Given the description of an element on the screen output the (x, y) to click on. 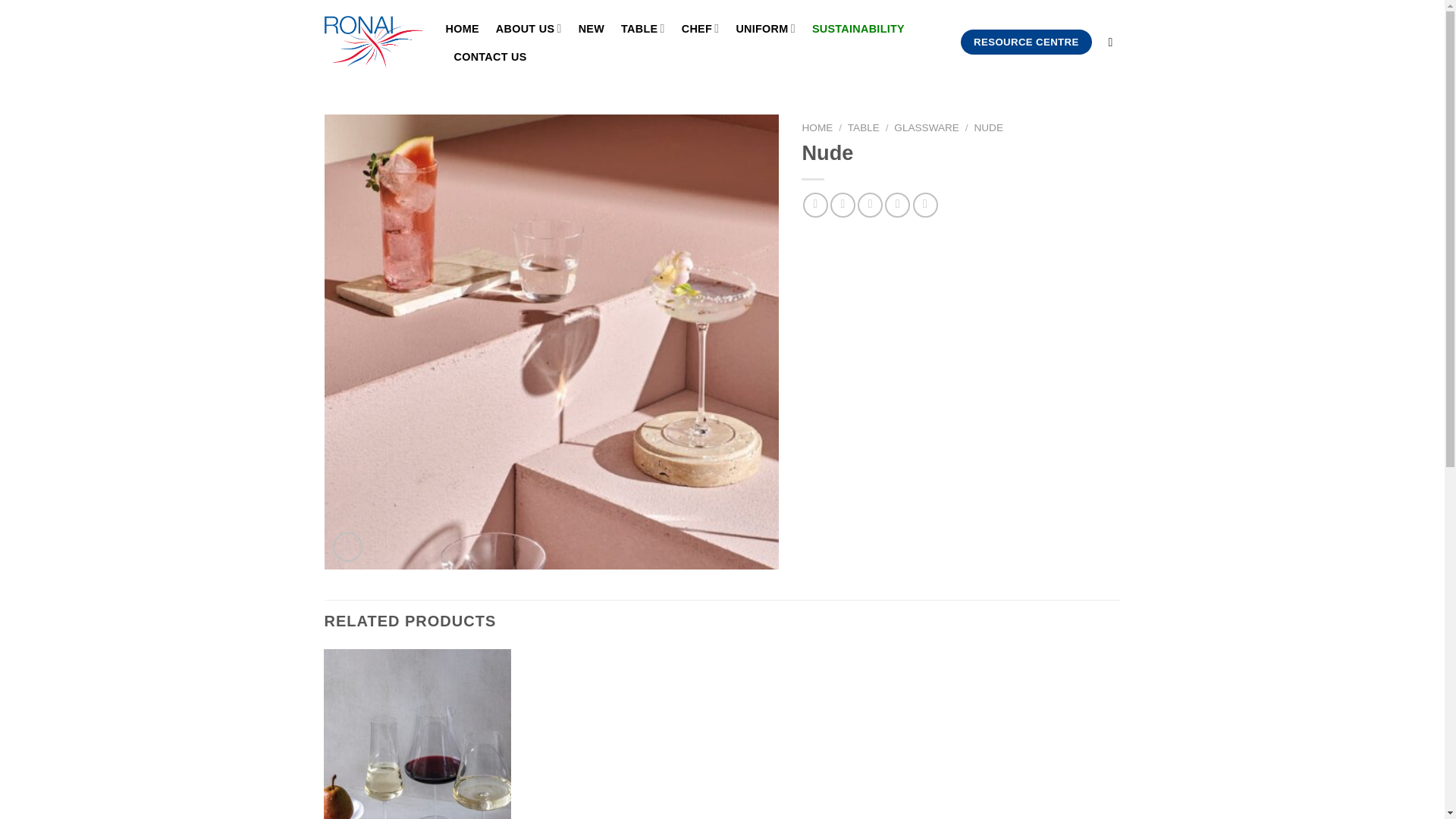
RESOURCE CENTRE (1025, 42)
CONTACT US (488, 56)
Pin on Pinterest (897, 204)
Ronai (373, 41)
Email to a Friend (869, 204)
ABOUT US (529, 28)
GLASSWARE (926, 127)
TABLE (863, 127)
Share on Twitter (842, 204)
HOME (817, 127)
